Given the description of an element on the screen output the (x, y) to click on. 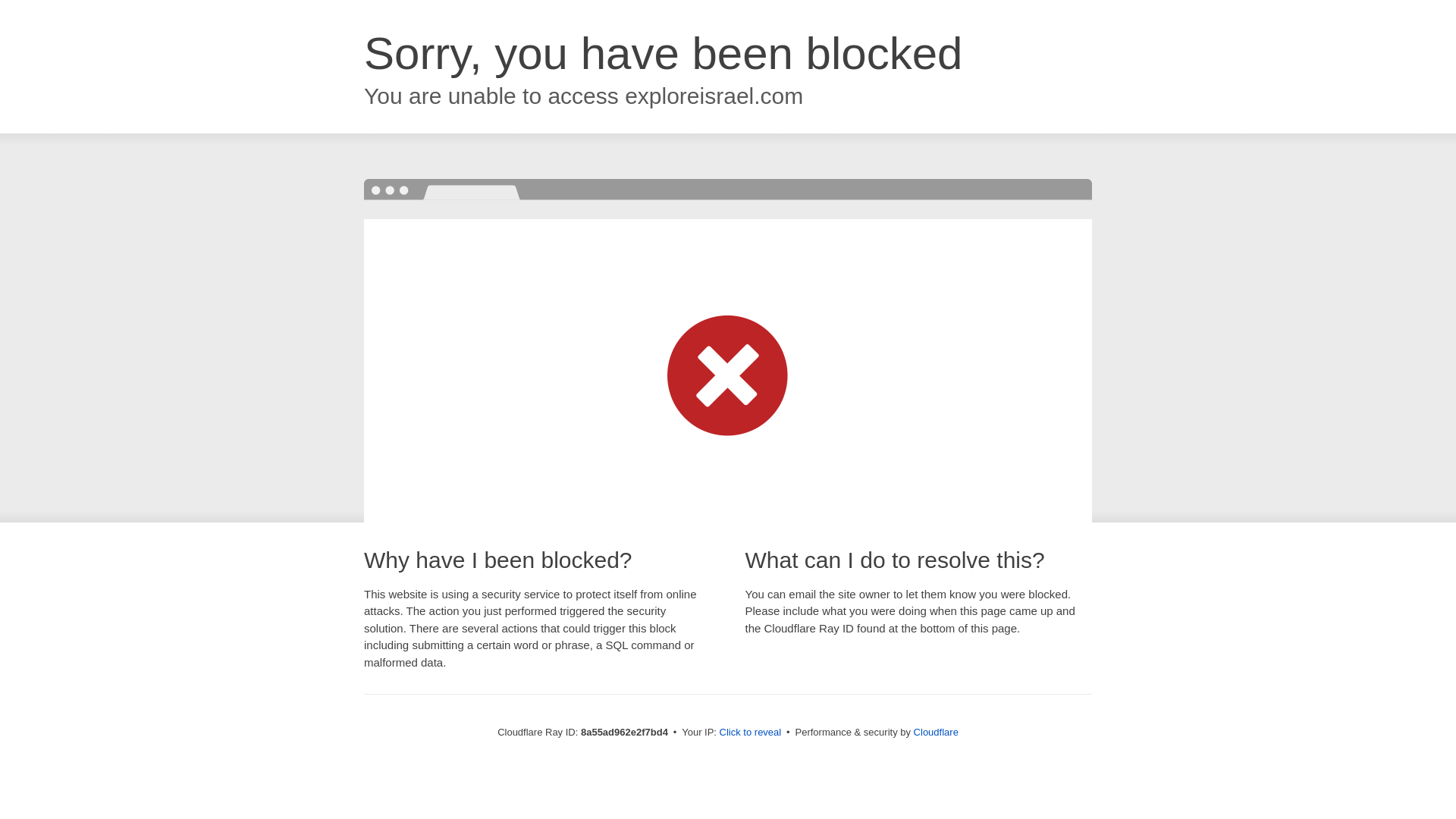
Click to reveal (750, 732)
Cloudflare (936, 731)
